Given the description of an element on the screen output the (x, y) to click on. 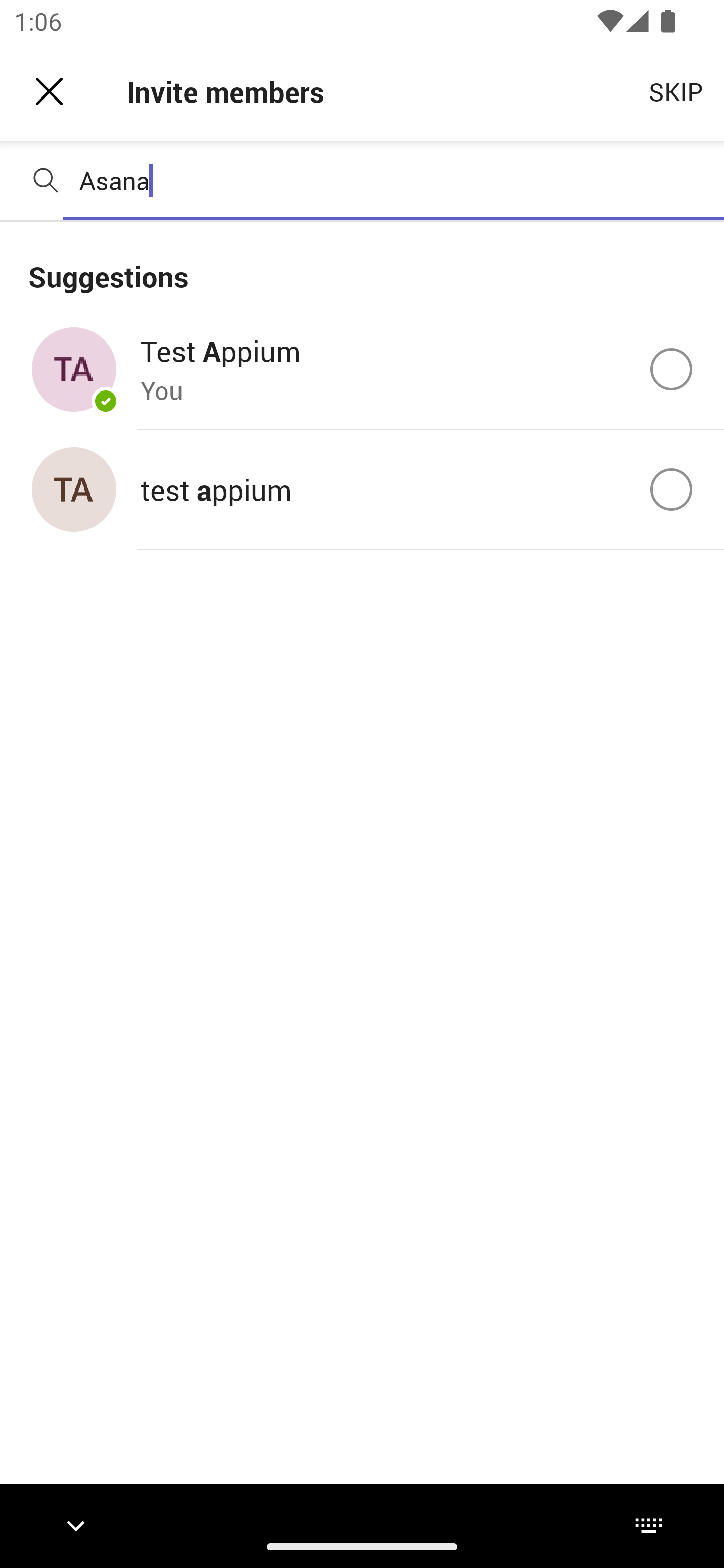
Dismiss (49, 91)
SKIP (675, 90)
Search by name, email, or phone (393, 180)
Suggestions section header Suggestions (362, 265)
